Given the description of an element on the screen output the (x, y) to click on. 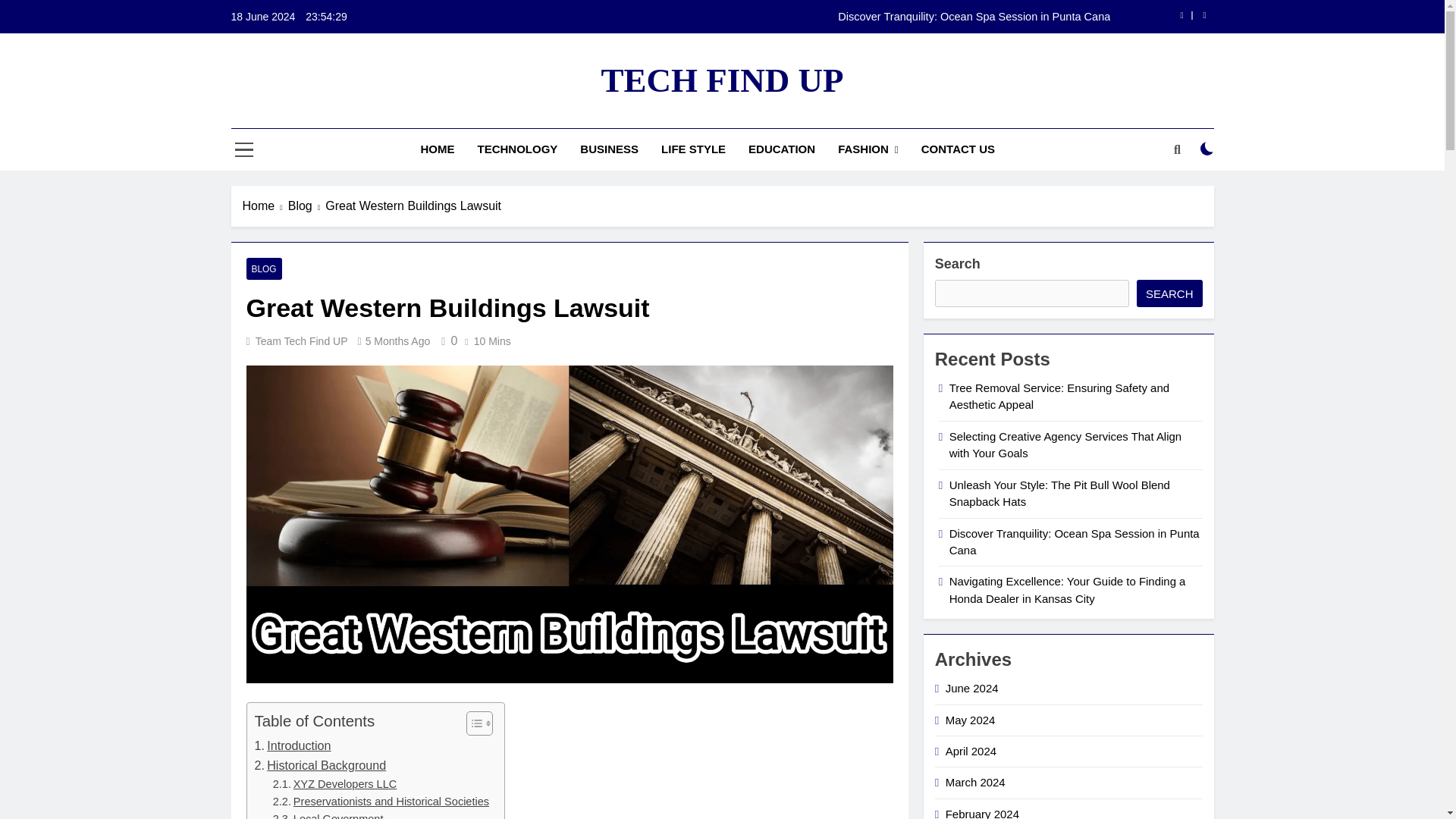
FASHION (868, 149)
XYZ Developers LLC (335, 784)
Historical Background (320, 765)
CONTACT US (958, 148)
Local Government (328, 814)
Introduction (292, 745)
HOME (437, 148)
Preservationists and Historical Societies (381, 801)
Local Government (328, 814)
XYZ Developers LLC (335, 784)
BLOG (263, 268)
Blog (307, 206)
Team Tech Find UP (301, 340)
TECHNOLOGY (517, 148)
